Given the description of an element on the screen output the (x, y) to click on. 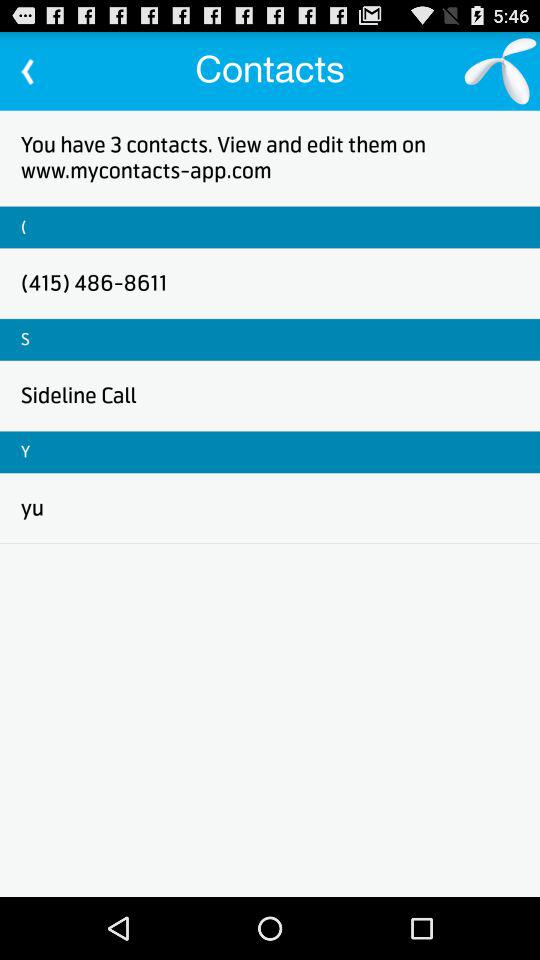
turn on y item (25, 451)
